Given the description of an element on the screen output the (x, y) to click on. 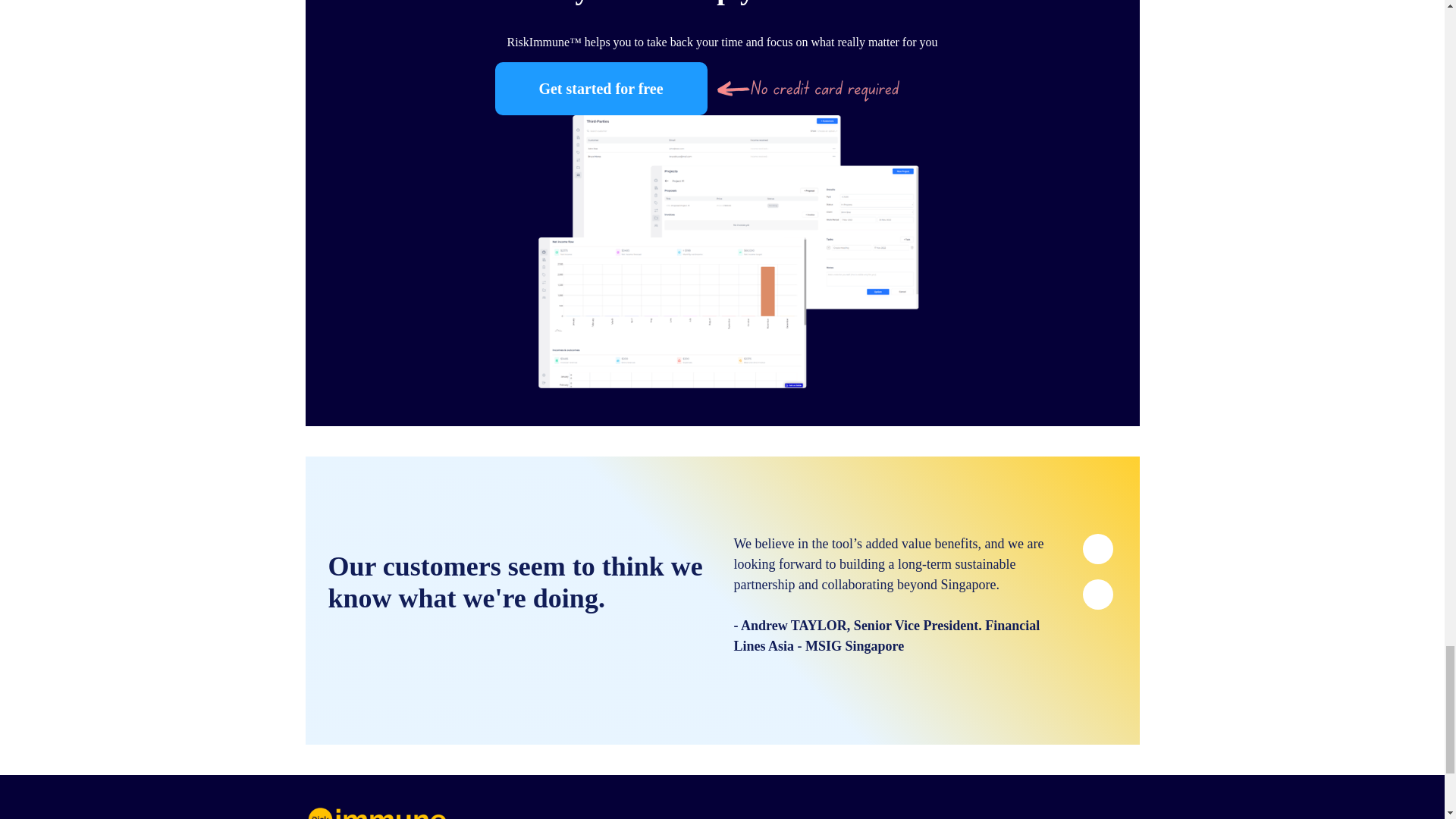
Get started for free (600, 88)
